Given the description of an element on the screen output the (x, y) to click on. 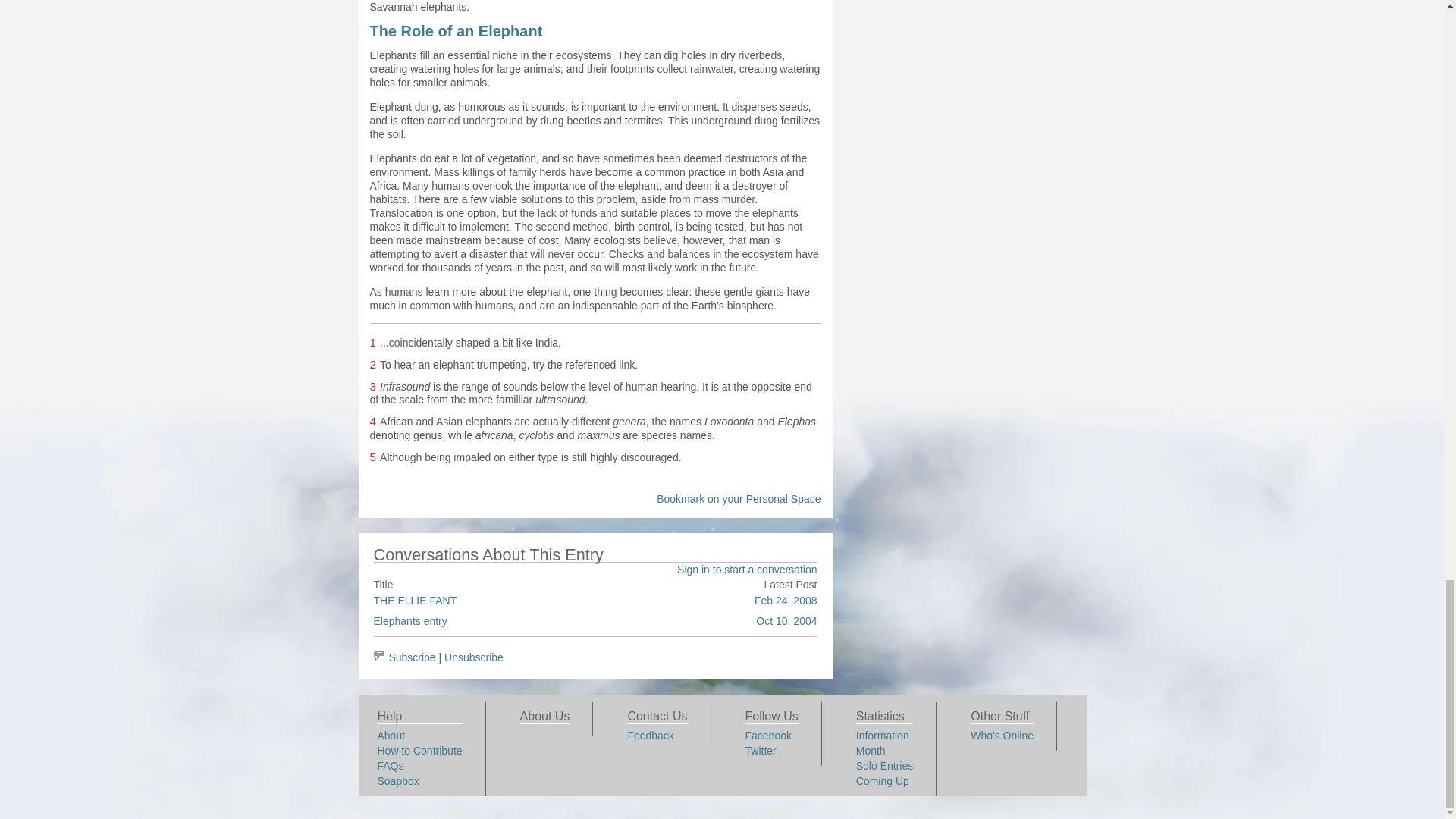
Elephants entry (409, 621)
Feb 24, 2008 (785, 600)
Unsubscribe (473, 657)
Sign in to start a conversation (746, 569)
Bookmark on your Personal Space (738, 499)
THE ELLIE FANT (414, 600)
sign in to start a conversation (746, 569)
Subscribe (411, 657)
Oct 10, 2004 (785, 621)
